Given the description of an element on the screen output the (x, y) to click on. 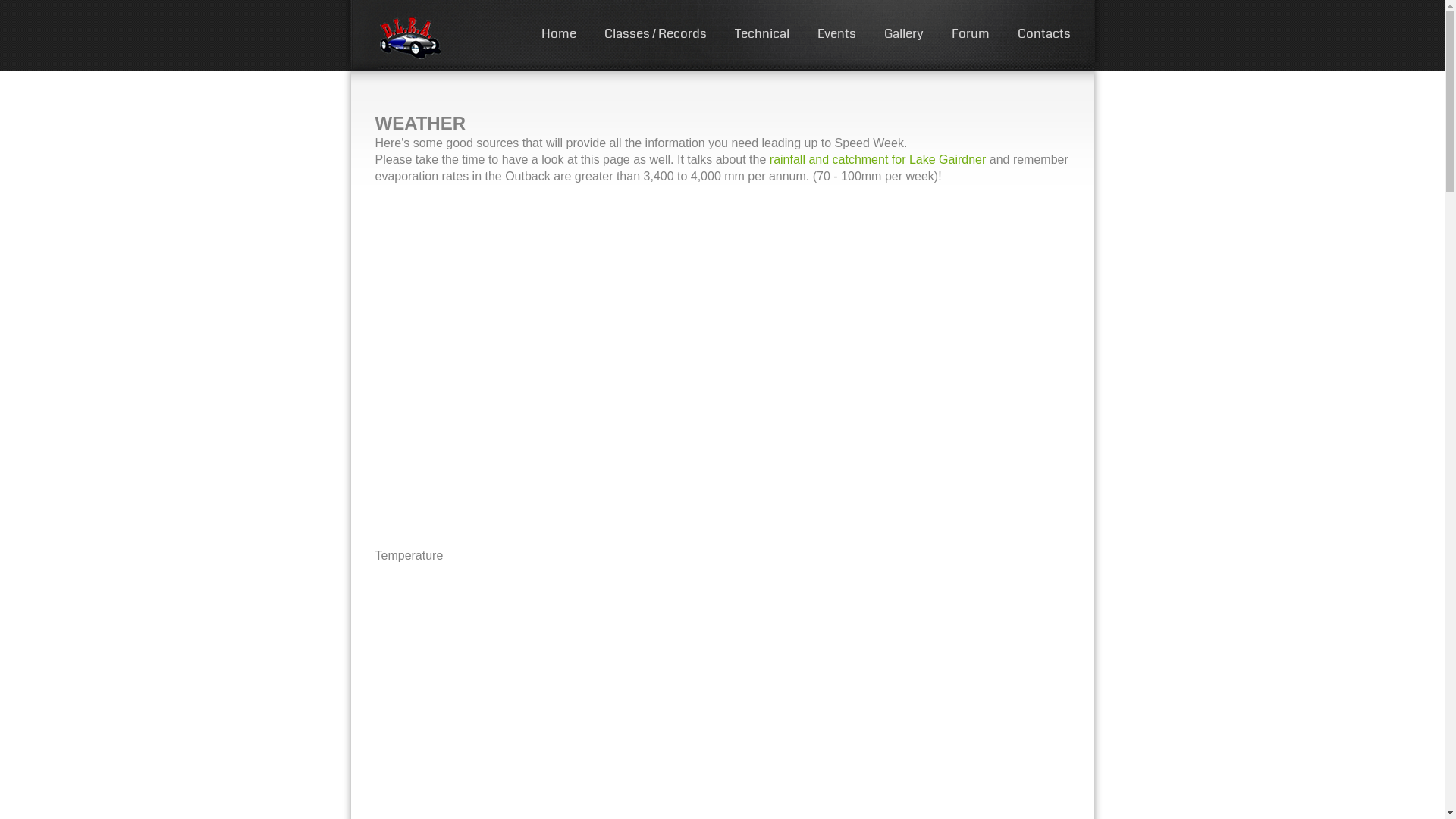
Home Element type: text (558, 33)
Forum Element type: text (969, 33)
Events Element type: text (836, 33)
Contacts Element type: text (1043, 33)
Classes / Records Element type: text (654, 33)
Technical Element type: text (761, 33)
DLRA Element type: text (428, 37)
rainfall and catchment for Lake Gairdner Element type: text (879, 159)
Gallery Element type: text (903, 33)
